Given the description of an element on the screen output the (x, y) to click on. 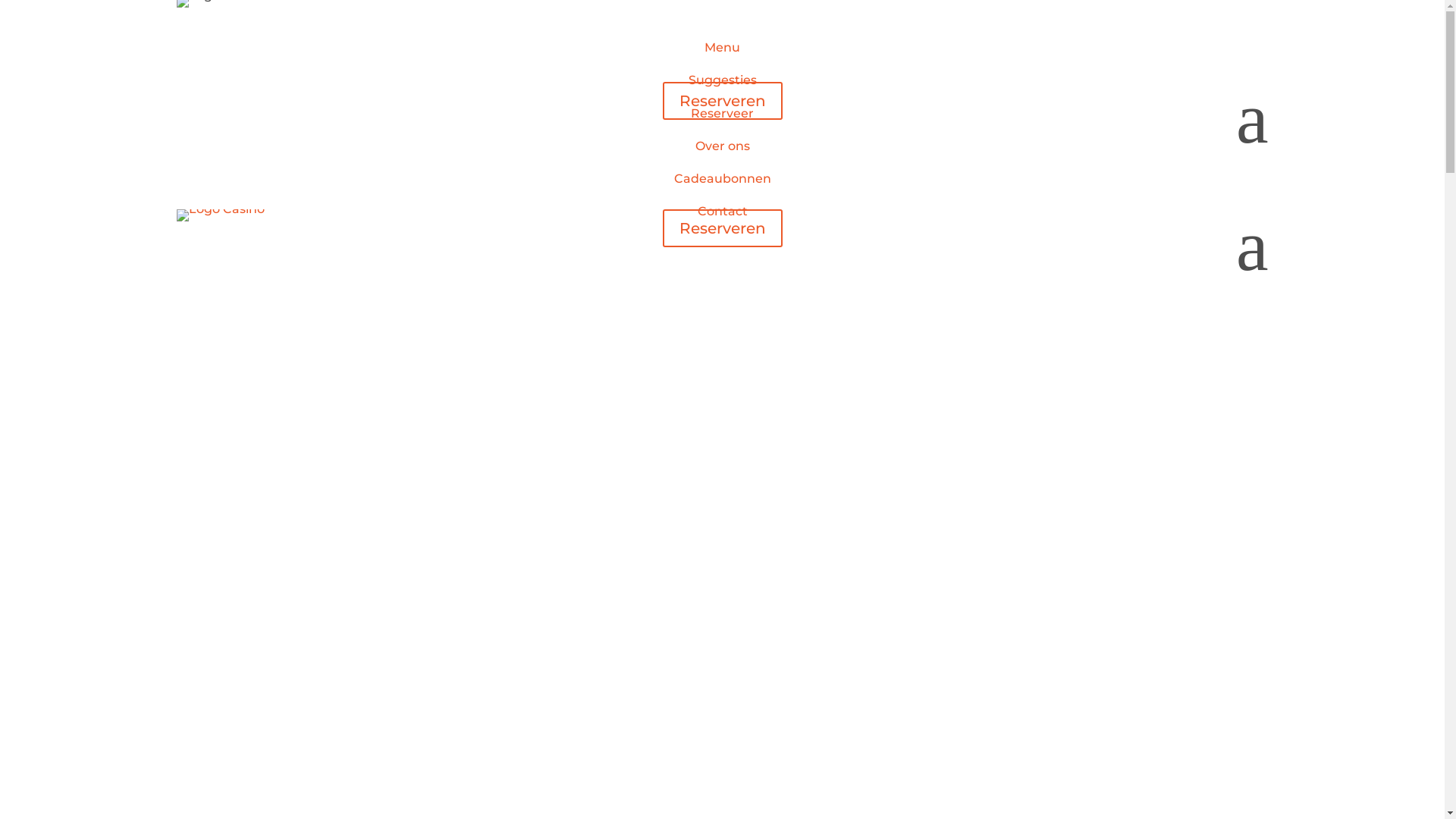
Cadeaubonnen Element type: text (721, 178)
Reserveren Element type: text (722, 100)
Over ons Element type: text (721, 145)
Reserveer Element type: text (721, 113)
Contact Element type: text (722, 210)
Follow on Facebook Element type: hover (706, 263)
Logo Casino Element type: hover (219, 215)
Suggesties Element type: text (722, 79)
Reserveren Element type: text (722, 228)
Follow on Instagram Element type: hover (218, 93)
Follow on Facebook Element type: hover (187, 93)
Menu Element type: text (722, 47)
Follow on Instagram Element type: hover (736, 263)
